Given the description of an element on the screen output the (x, y) to click on. 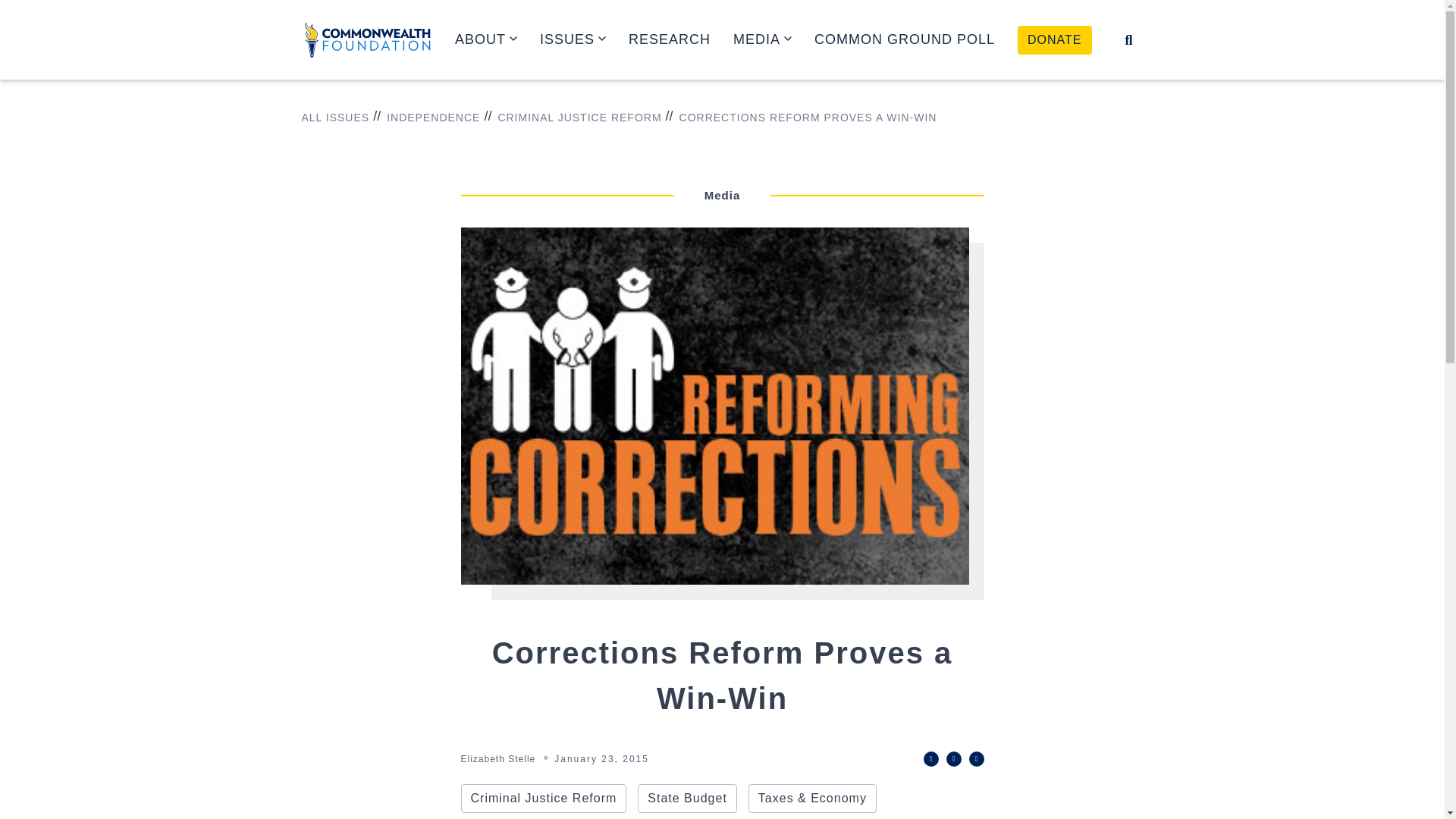
CORRECTIONS REFORM PROVES A WIN-WIN (801, 117)
DONATE (1053, 39)
Email (976, 758)
ALL ISSUES (335, 117)
COMMON GROUND POLL (903, 39)
Elizabeth Stelle (498, 758)
MEDIA (762, 39)
Twitter (931, 758)
RESEARCH (669, 39)
ISSUES (572, 39)
